Given the description of an element on the screen output the (x, y) to click on. 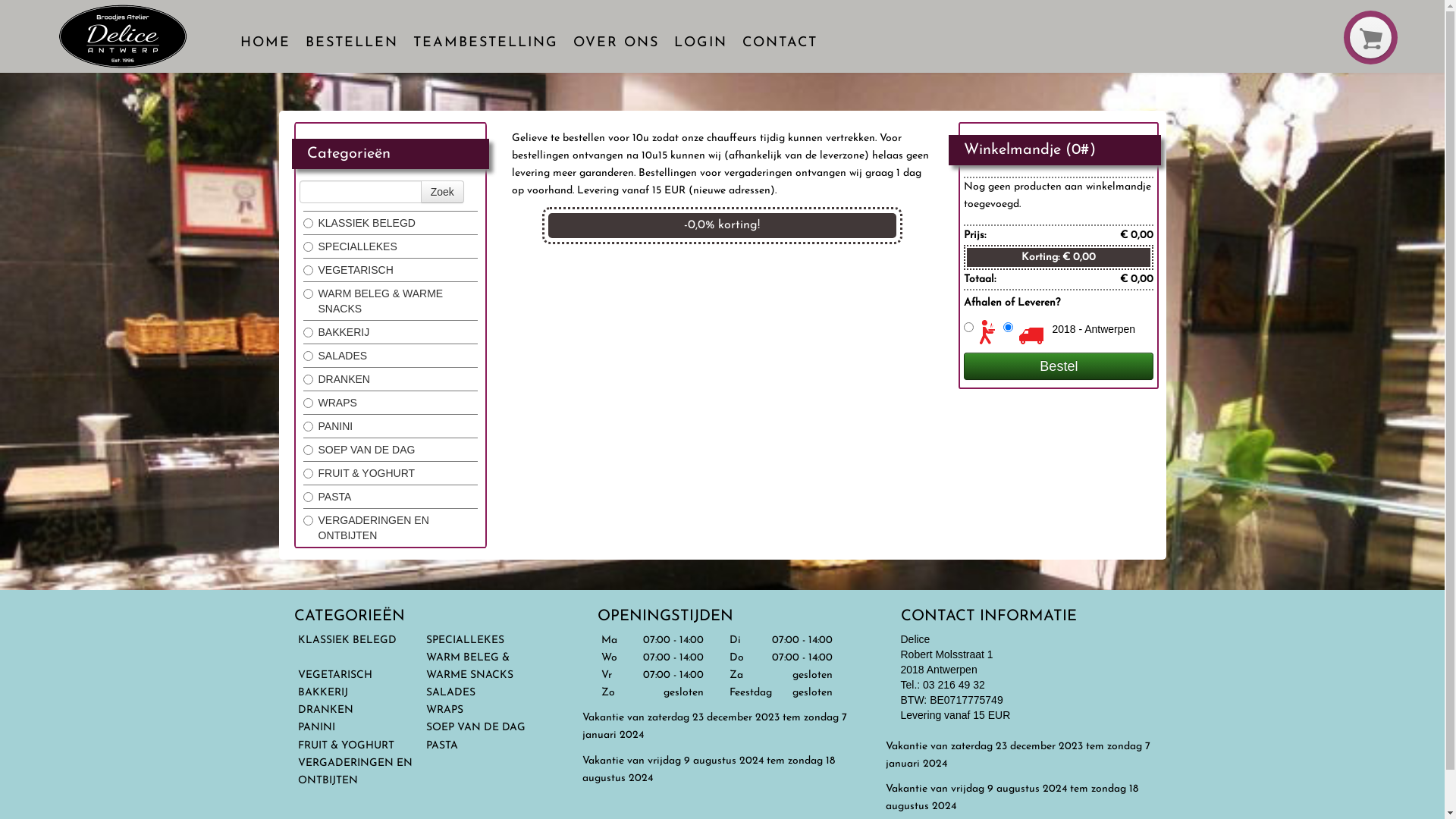
SPECIALLEKES Element type: text (465, 640)
LOGIN Element type: text (700, 42)
03 216 49 32 Element type: text (953, 684)
FRUIT & YOGHURT  Element type: text (346, 745)
SOEP VAN DE DAG Element type: text (475, 727)
VEGETARISCH Element type: text (334, 674)
KLASSIEK BELEGD Element type: text (346, 640)
BESTELLEN Element type: text (351, 42)
Bestel Element type: text (1058, 365)
TEAMBESTELLING Element type: text (485, 42)
SALADES Element type: text (450, 692)
BAKKERIJ Element type: text (322, 692)
DRANKEN Element type: text (324, 709)
OVER ONS Element type: text (615, 42)
WRAPS Element type: text (444, 709)
Zoek Element type: text (442, 191)
2018 - Antwerpen Element type: text (1093, 329)
CONTACT Element type: text (779, 42)
VERGADERINGEN EN ONTBIJTEN Element type: text (354, 771)
WARM BELEG & WARME SNACKS Element type: text (469, 666)
HOME Element type: text (265, 42)
PANINI Element type: text (315, 727)
PASTA Element type: text (442, 745)
